Given the description of an element on the screen output the (x, y) to click on. 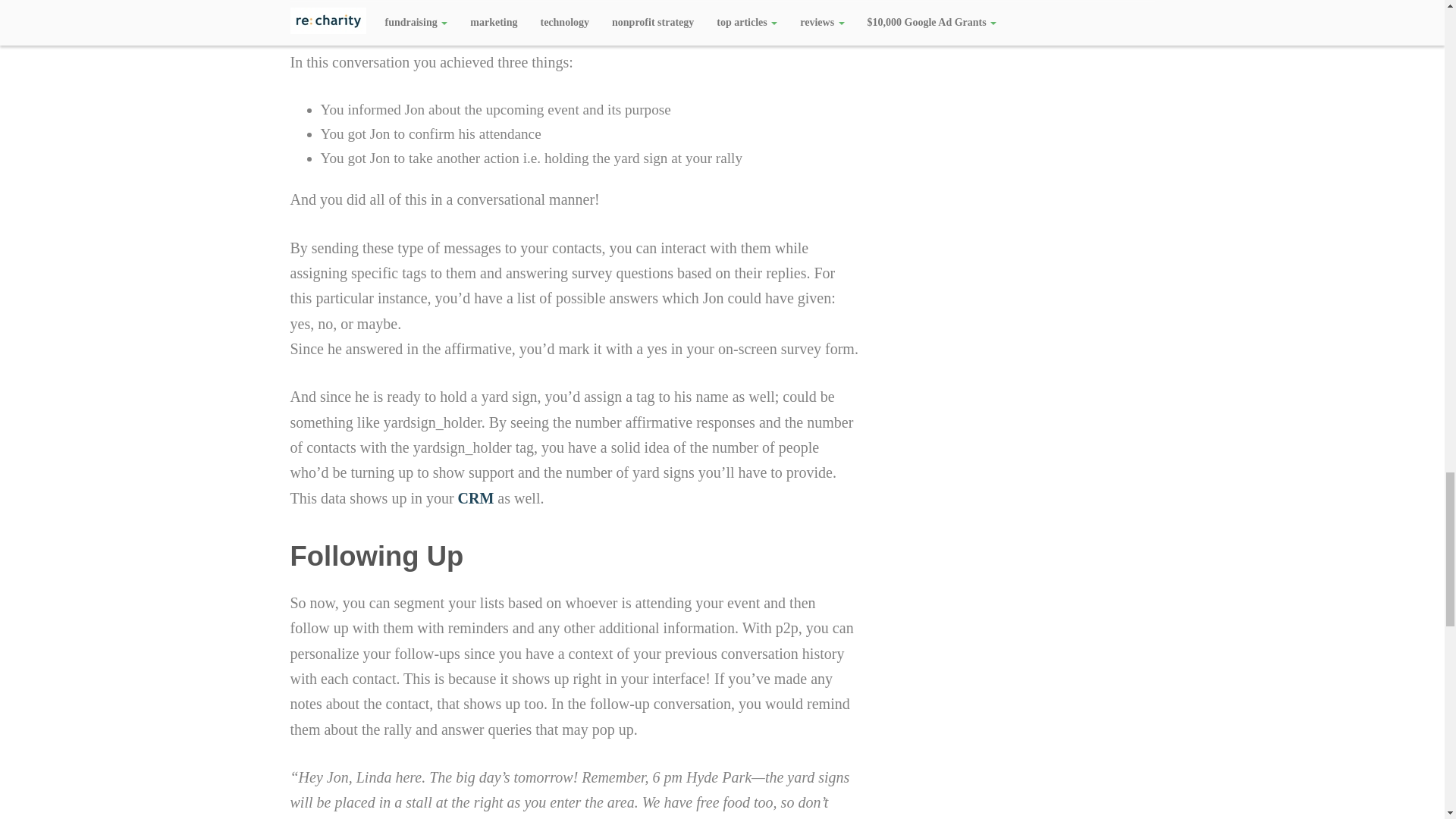
CRM (476, 497)
